Given the description of an element on the screen output the (x, y) to click on. 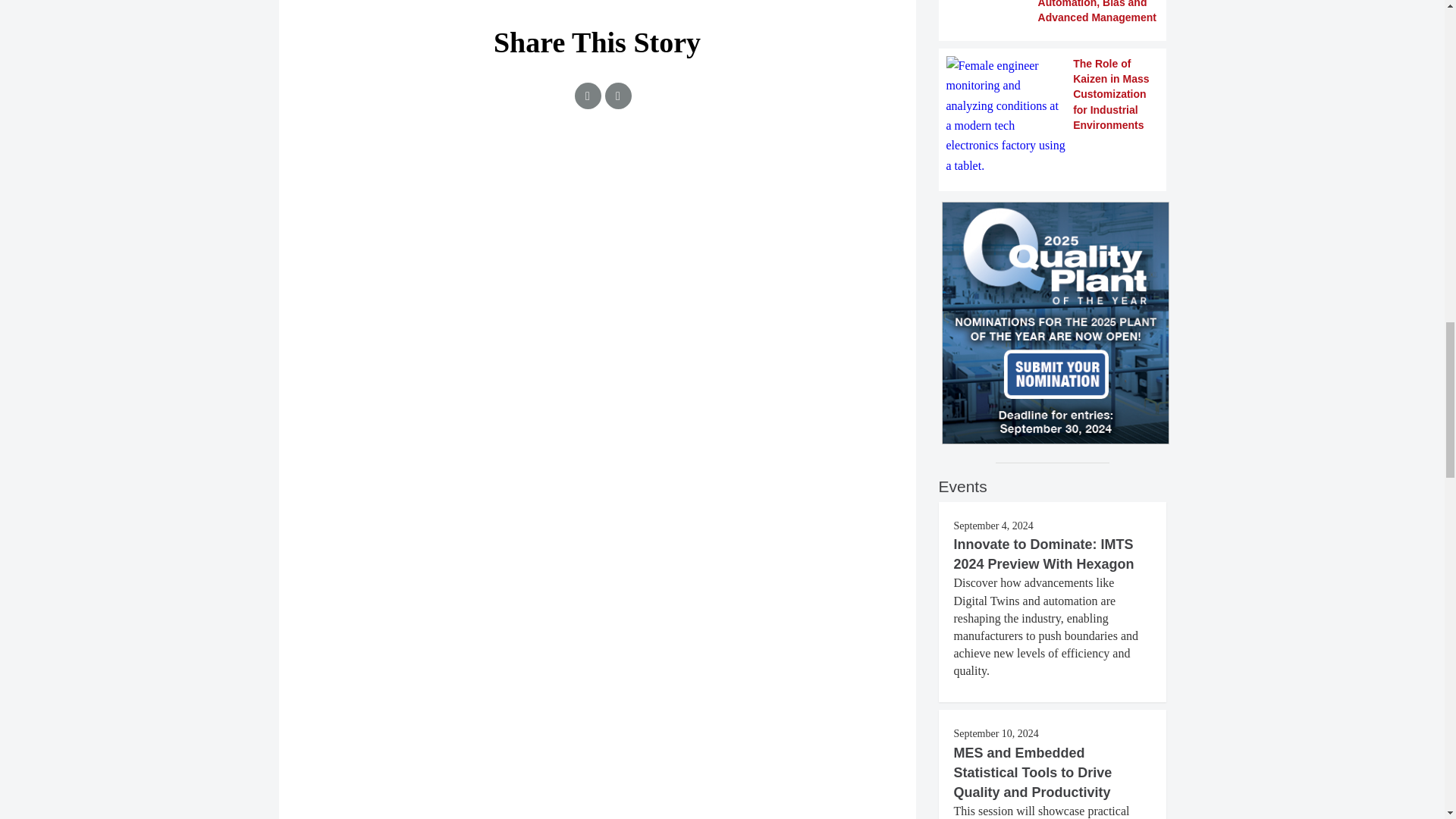
Innovate to Dominate: IMTS 2024 Preview With Hexagon (1043, 554)
